Given the description of an element on the screen output the (x, y) to click on. 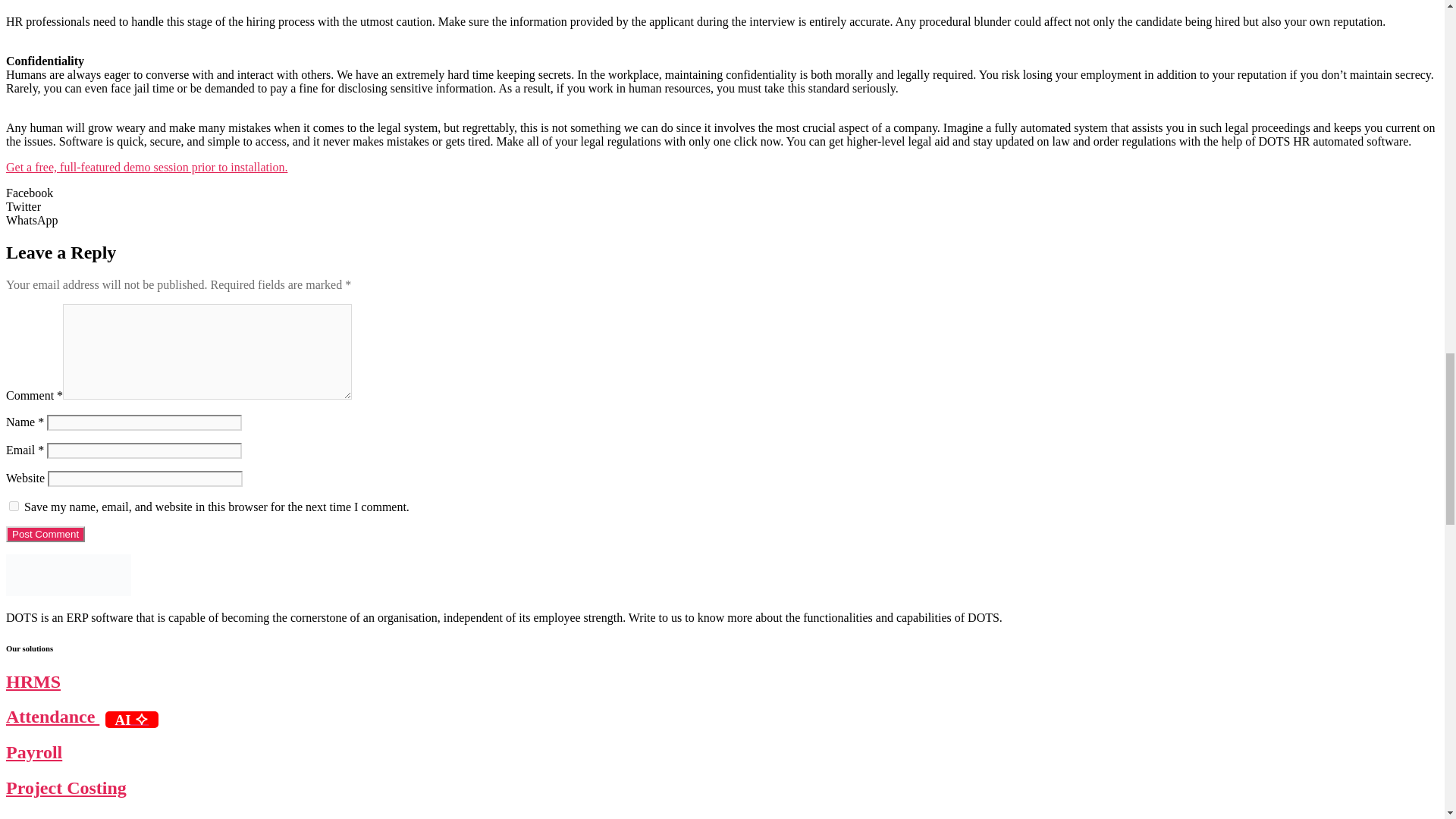
Post Comment (44, 534)
Project Costing (65, 787)
Post Comment (44, 534)
HRMS (33, 681)
Payroll (33, 752)
yes (13, 506)
